Given the description of an element on the screen output the (x, y) to click on. 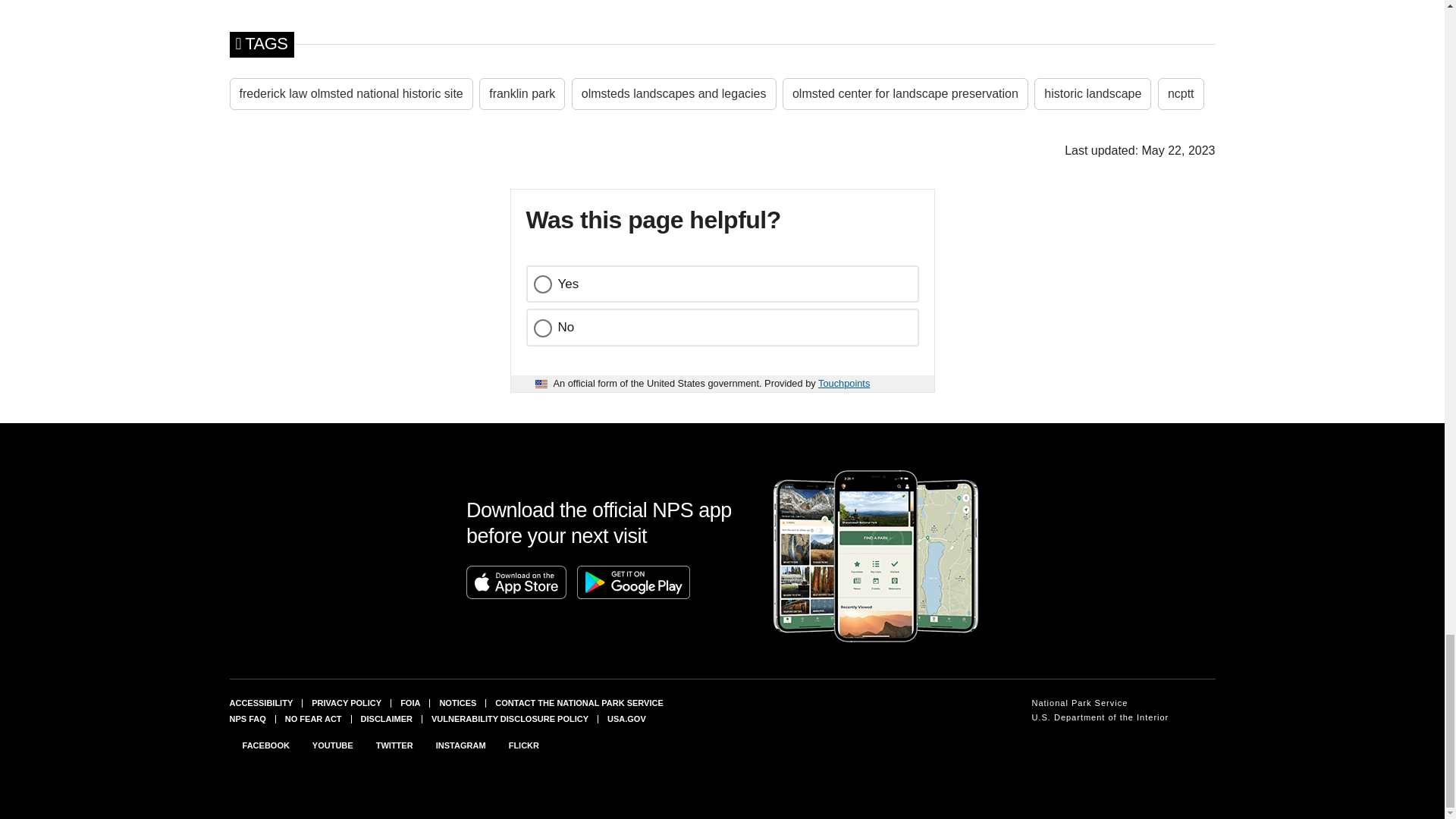
National Park Service frequently asked questions (246, 718)
